Given the description of an element on the screen output the (x, y) to click on. 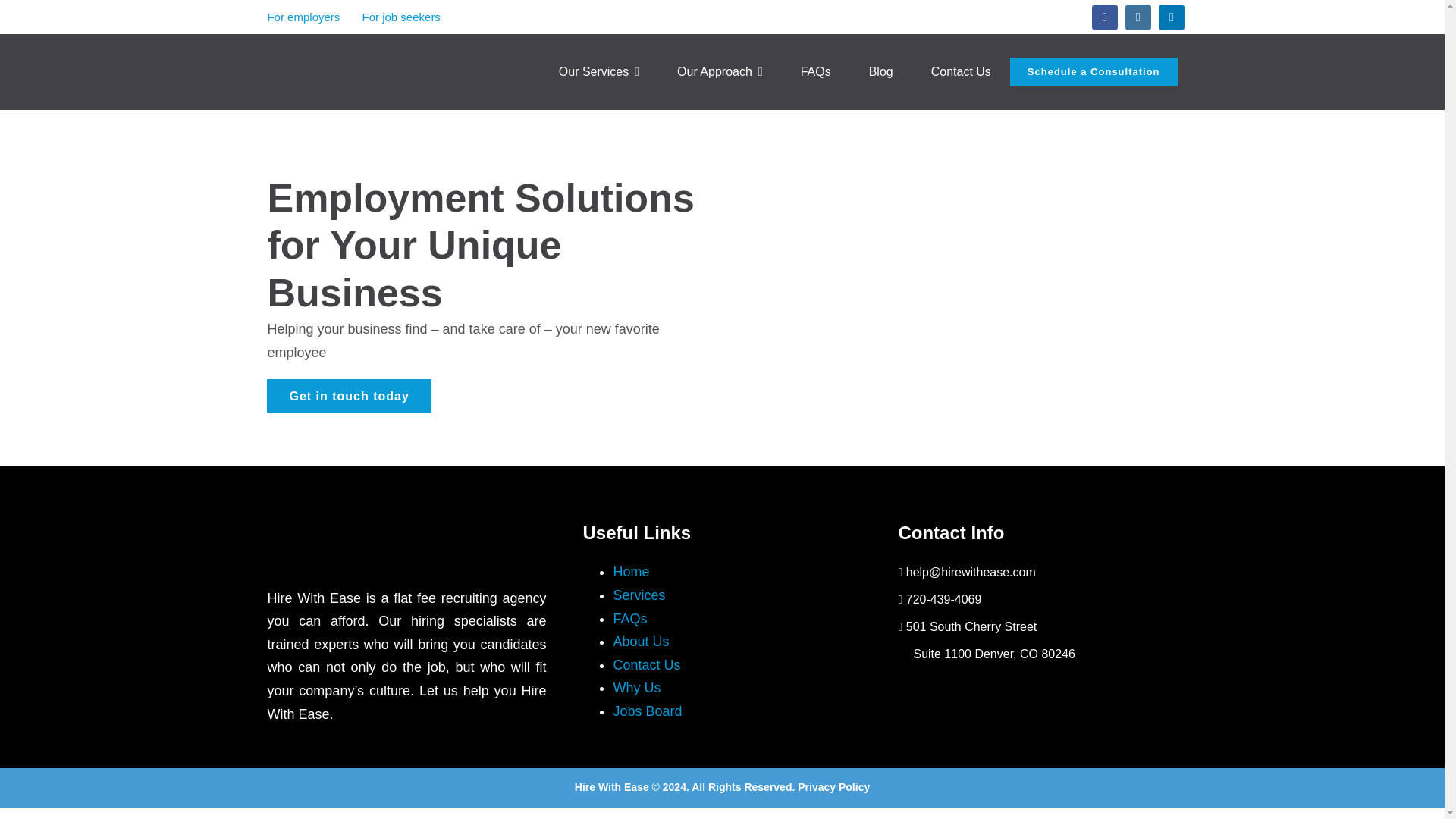
Jobs Board (646, 711)
Facebook (1105, 17)
About Us (640, 641)
For employers (302, 16)
FAQs (629, 618)
Privacy Policy (833, 787)
Instagram (1138, 17)
Home (630, 571)
Schedule a Consultation (1093, 71)
flat fee recruiting agency (469, 598)
Contact Us (645, 664)
Services (638, 595)
Contact Us (961, 71)
Our Services (599, 71)
schedule (1093, 71)
